Given the description of an element on the screen output the (x, y) to click on. 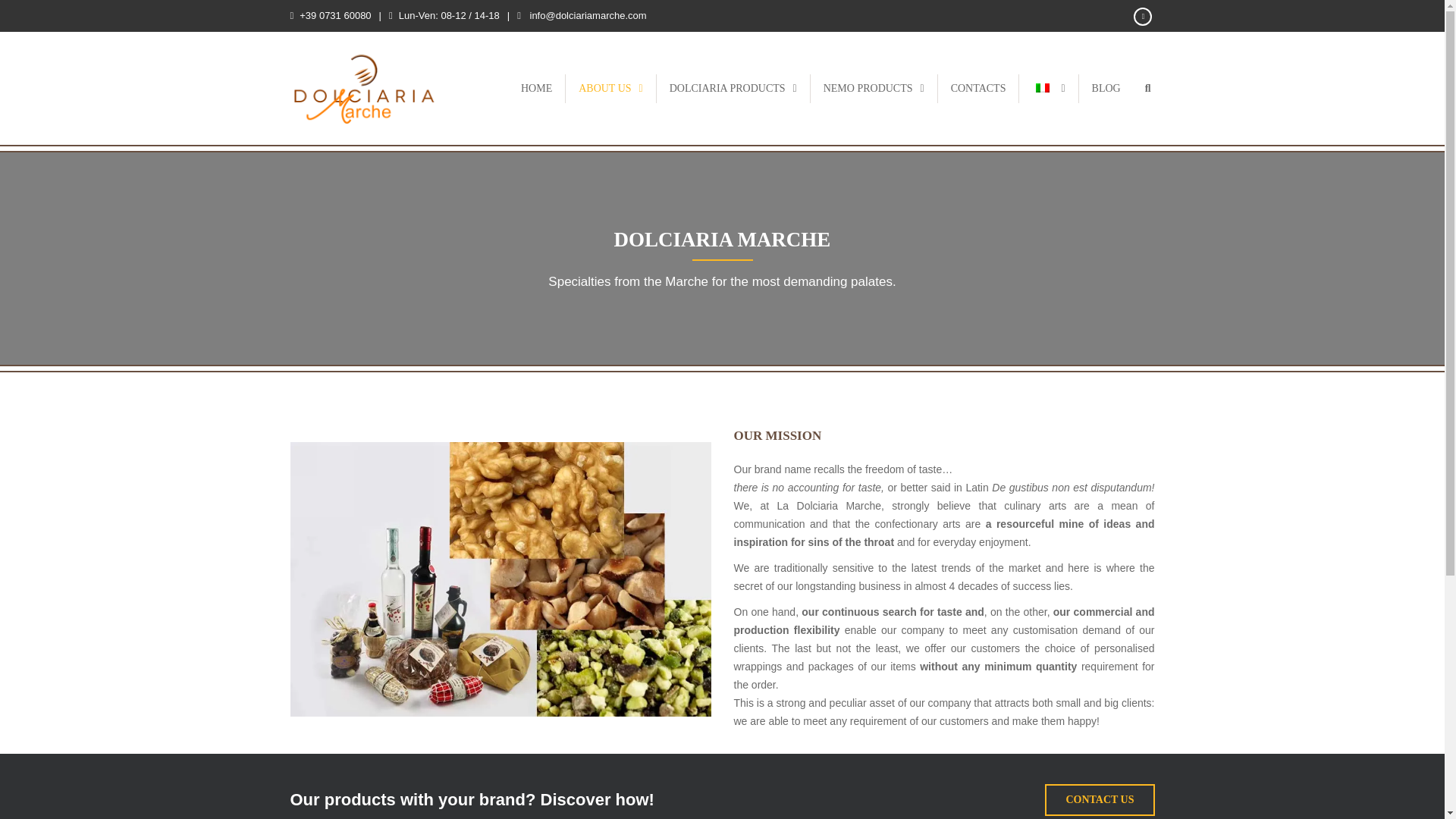
CONTACTS (978, 88)
CONTACT US (1099, 799)
BLOG (1106, 88)
Italian (1042, 87)
DOLCIARIA PRODUCTS (732, 88)
ABOUT US (611, 88)
HOME (536, 88)
NEMO PRODUCTS (873, 88)
